Given the description of an element on the screen output the (x, y) to click on. 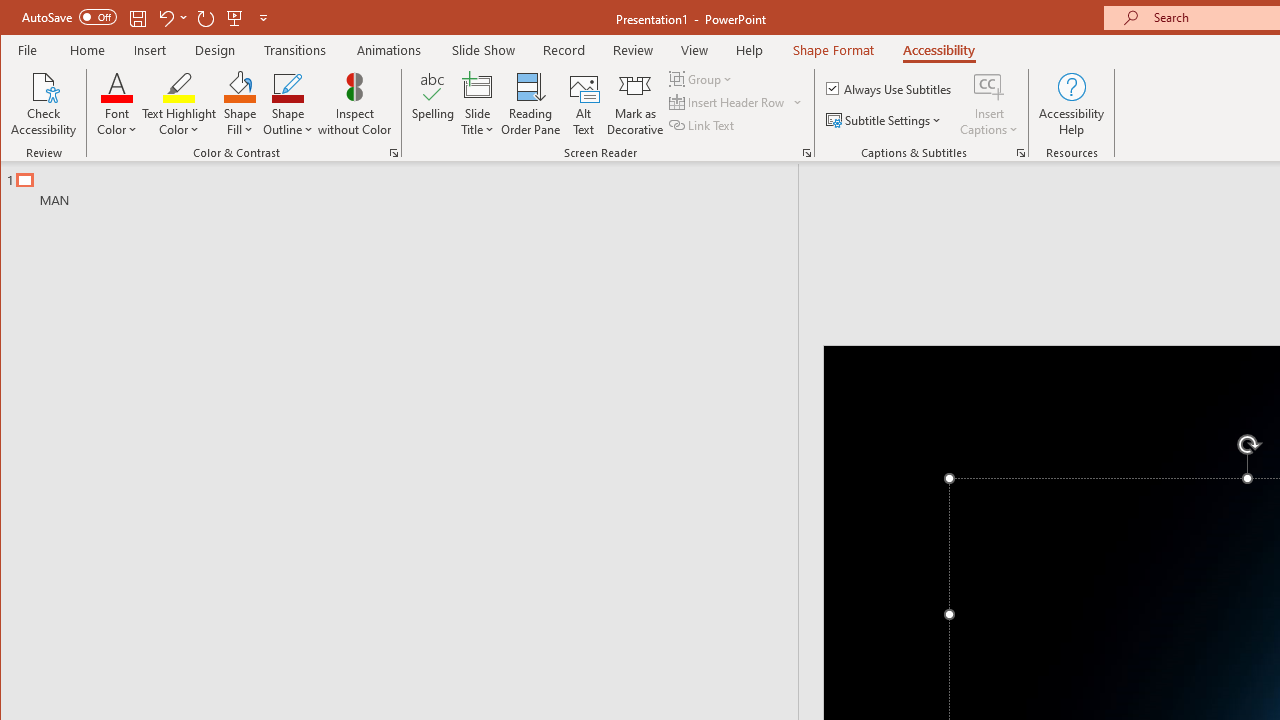
Mark as Decorative (635, 104)
Color & Contrast (393, 152)
Inspect without Color (355, 104)
